Given the description of an element on the screen output the (x, y) to click on. 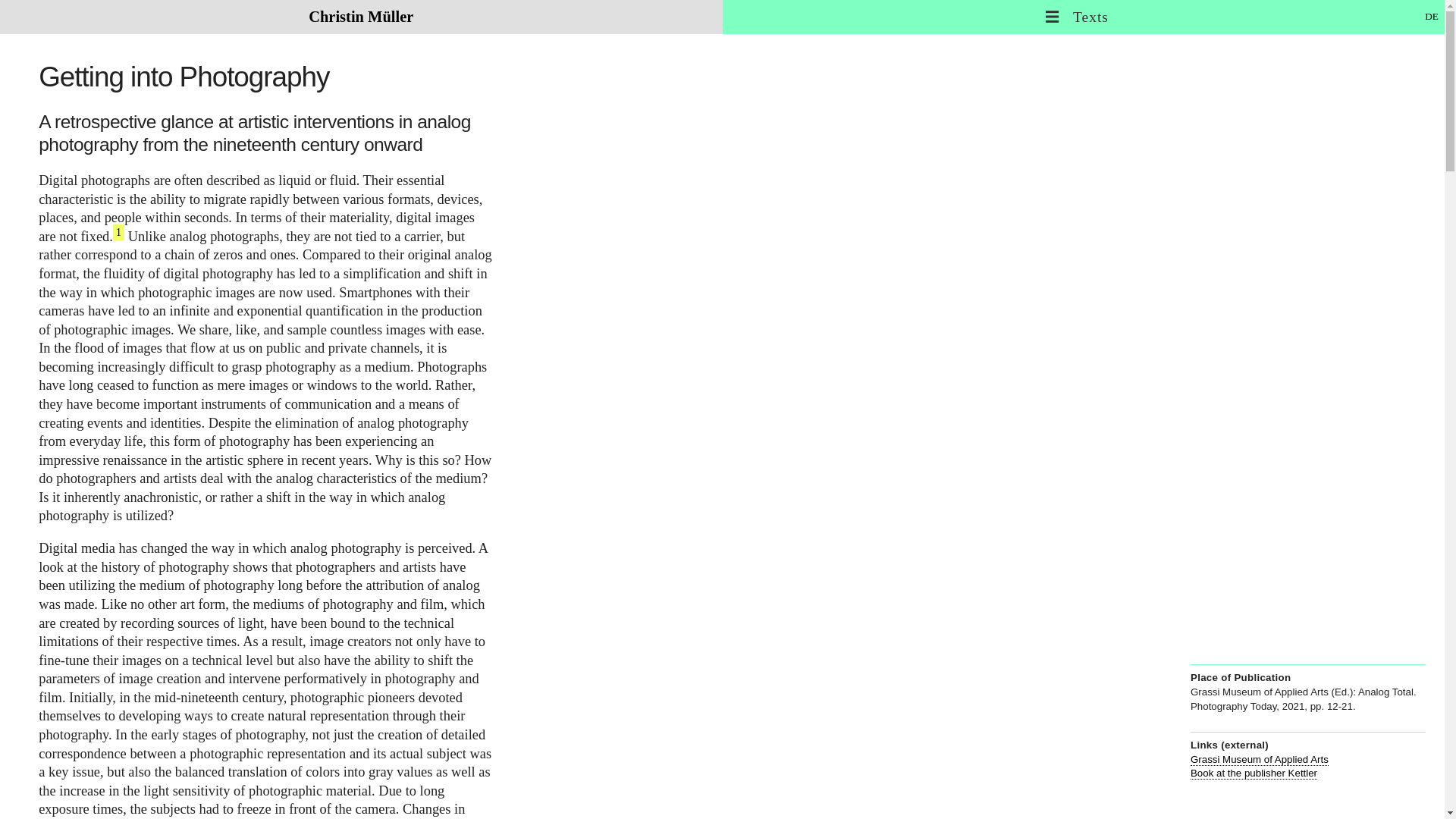
Book at the publisher Kettler (1254, 773)
DE (1431, 16)
Grassi Museum of Applied Arts (1259, 759)
